Given the description of an element on the screen output the (x, y) to click on. 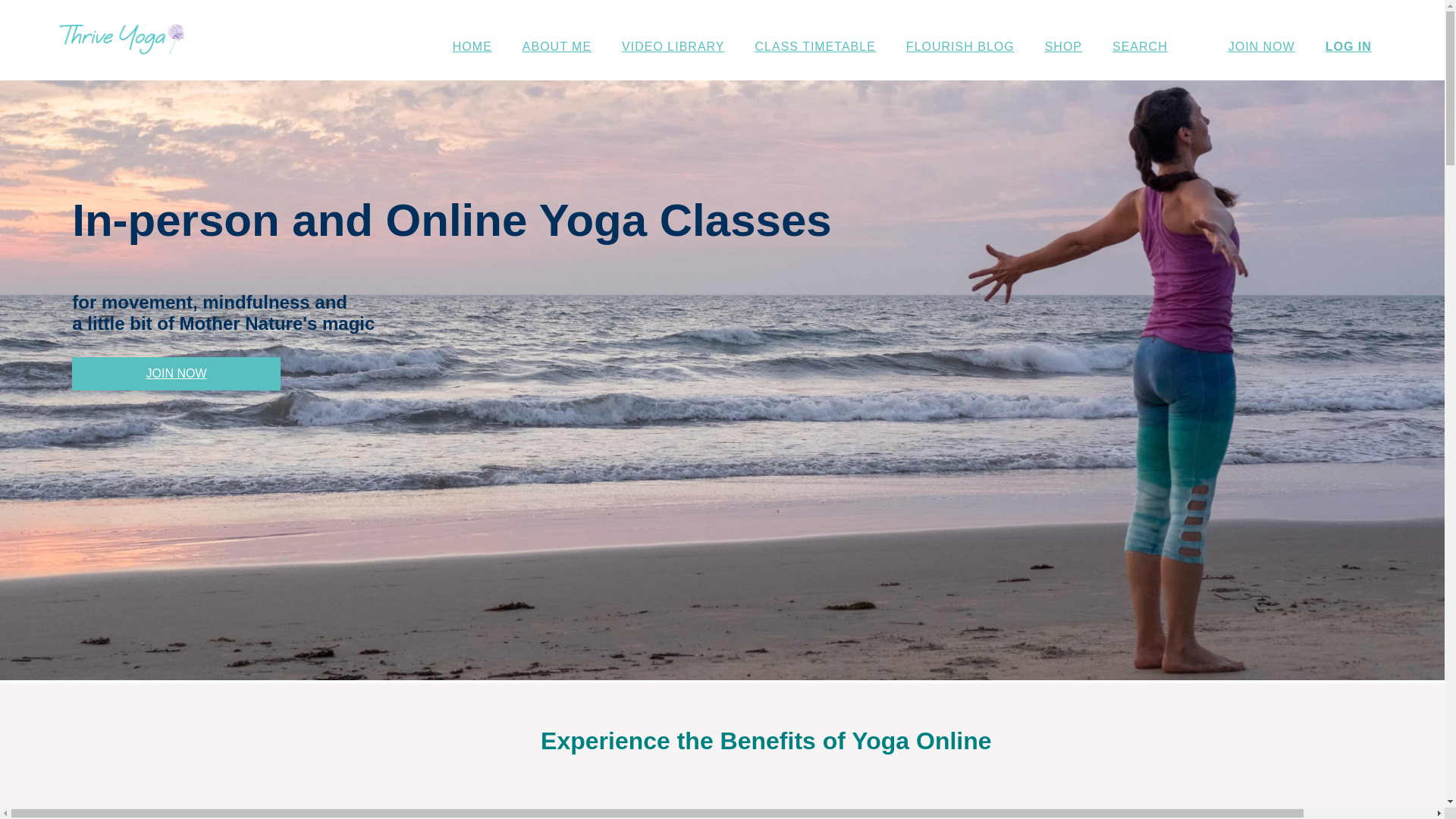
VIDEO LIBRARY (673, 47)
CLASS TIMETABLE (815, 47)
LOG IN (1348, 47)
SHOP (1063, 47)
Toggle navigation (404, 21)
JOIN NOW (1261, 47)
SEARCH (1139, 47)
HOME (472, 47)
Logo (122, 38)
ABOUT ME (556, 47)
FLOURISH BLOG (960, 47)
JOIN NOW (176, 373)
